Given the description of an element on the screen output the (x, y) to click on. 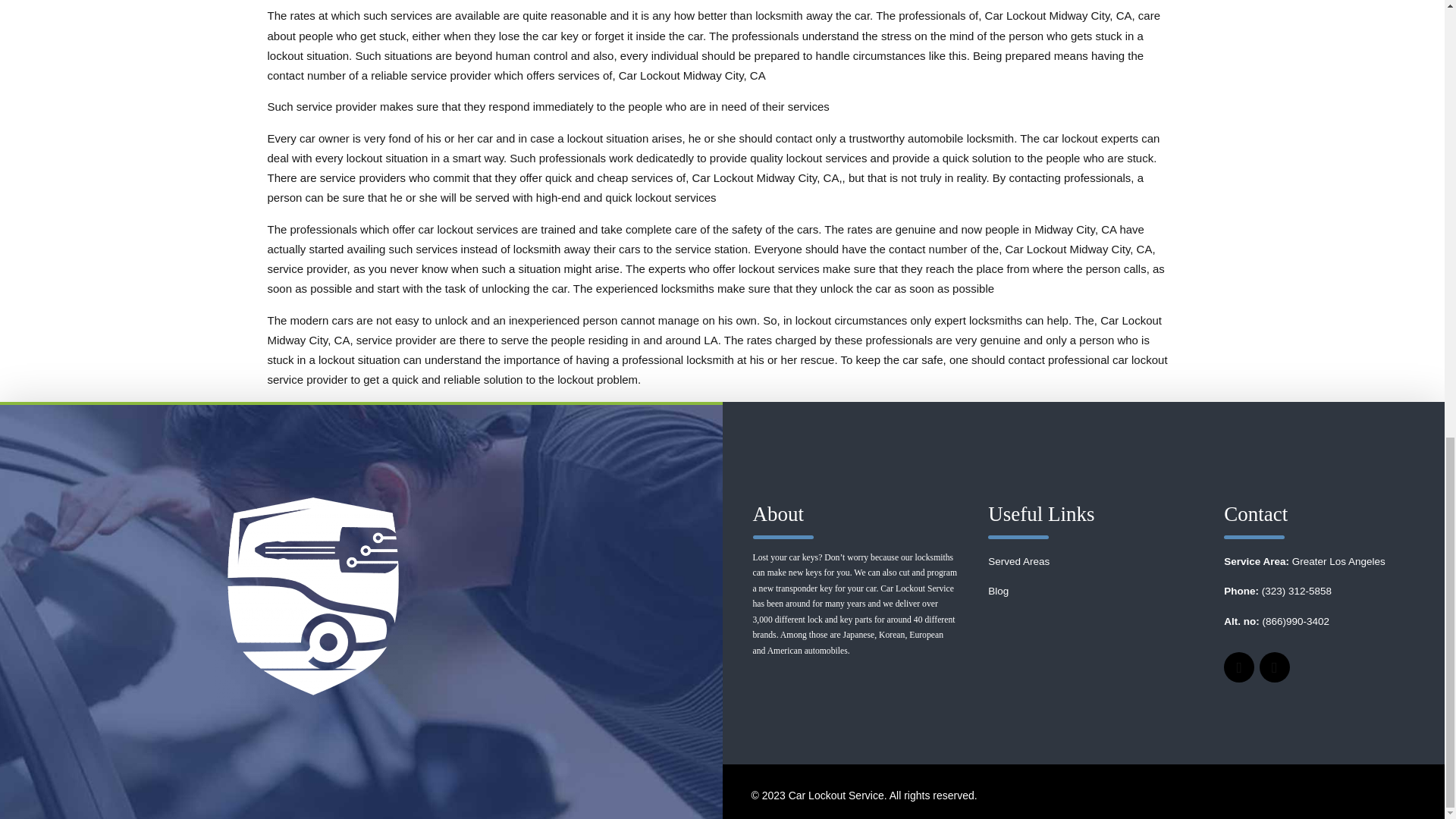
Blog (998, 591)
Served Areas (1018, 561)
